Given the description of an element on the screen output the (x, y) to click on. 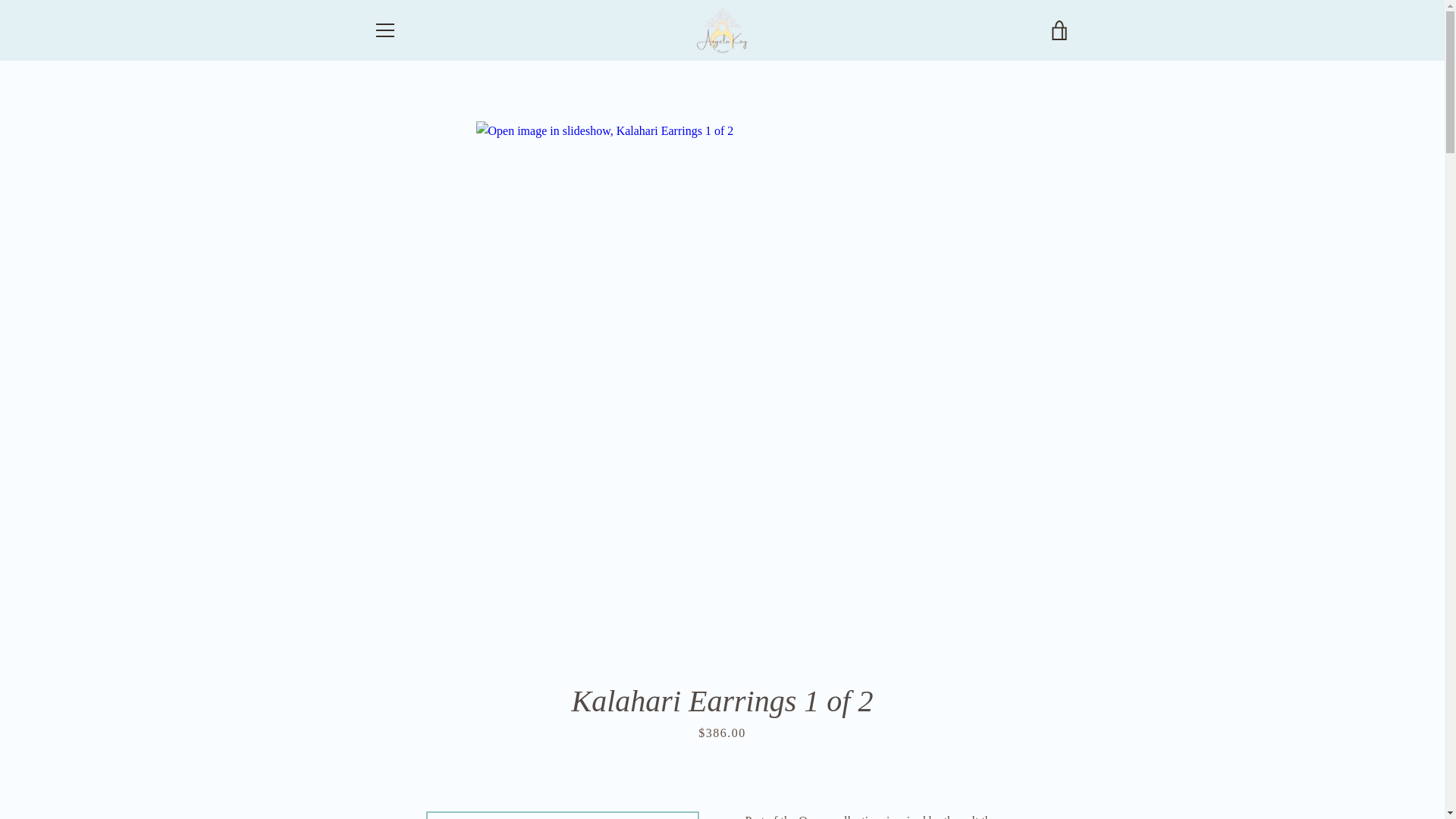
Angela Kay on Instagram (424, 765)
Angela Kay on Facebook (372, 765)
American Express (883, 755)
MENU (384, 30)
Apple Pay (918, 755)
Angela Kay on Pinterest (398, 765)
Diners Club (953, 755)
